Given the description of an element on the screen output the (x, y) to click on. 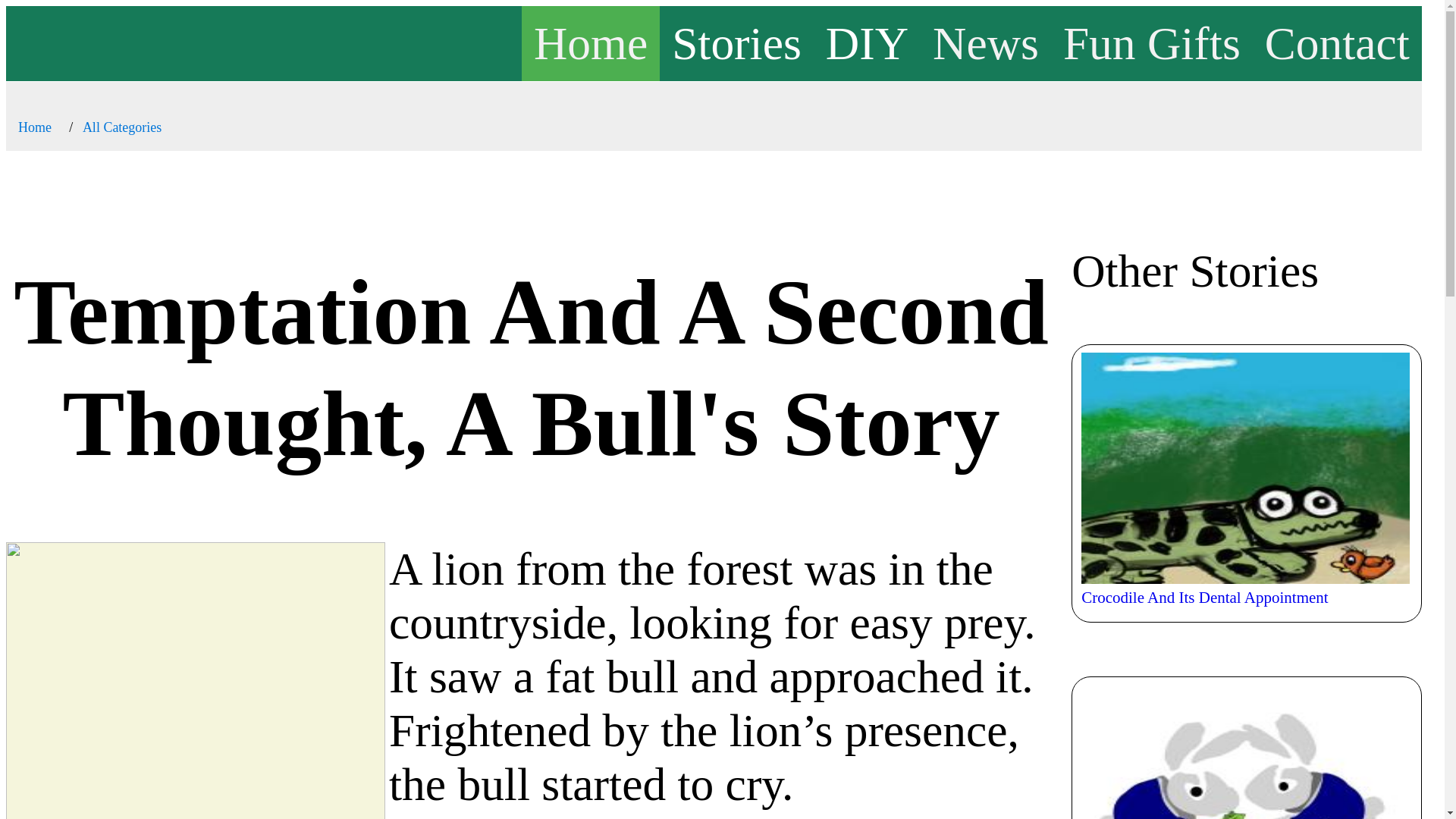
Home (33, 127)
Stories (736, 43)
DIY (866, 43)
Home (590, 43)
Fun Gifts (1151, 43)
News (985, 43)
All Categories (121, 127)
